Given the description of an element on the screen output the (x, y) to click on. 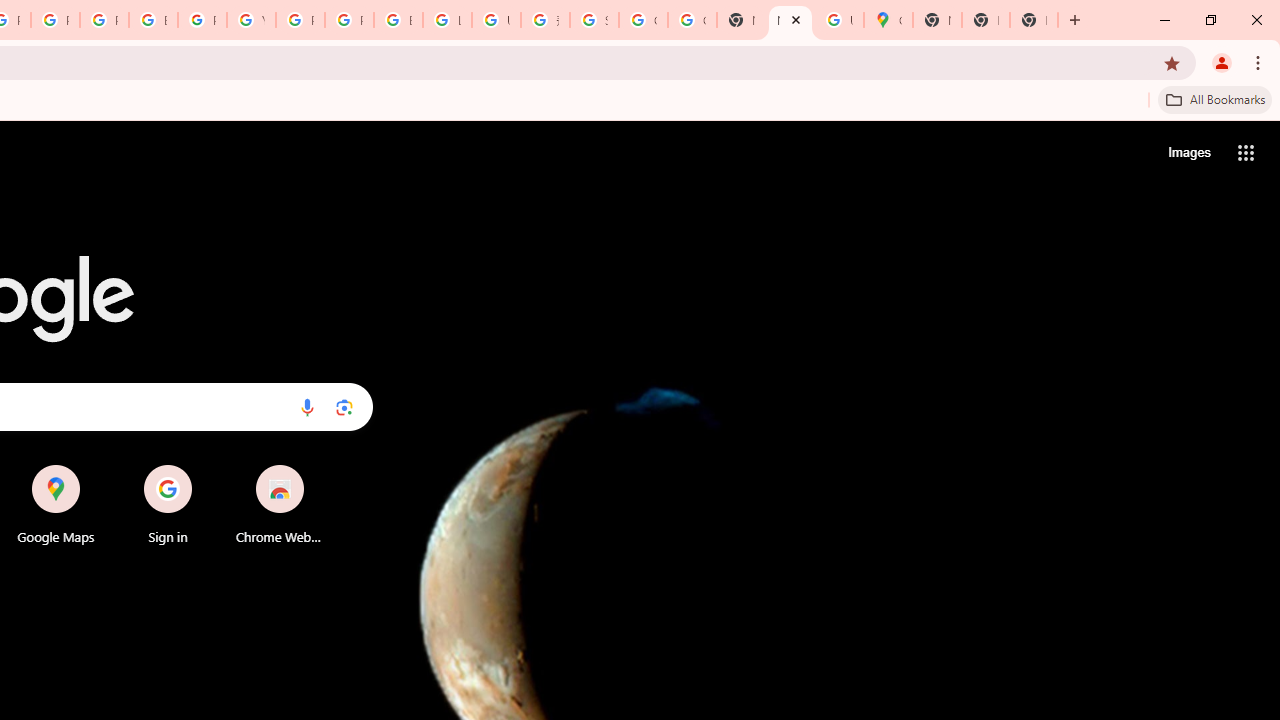
New Tab (1033, 20)
Chrome Web Store (279, 504)
New Tab (790, 20)
Google Maps (888, 20)
Privacy Help Center - Policies Help (55, 20)
